Given the description of an element on the screen output the (x, y) to click on. 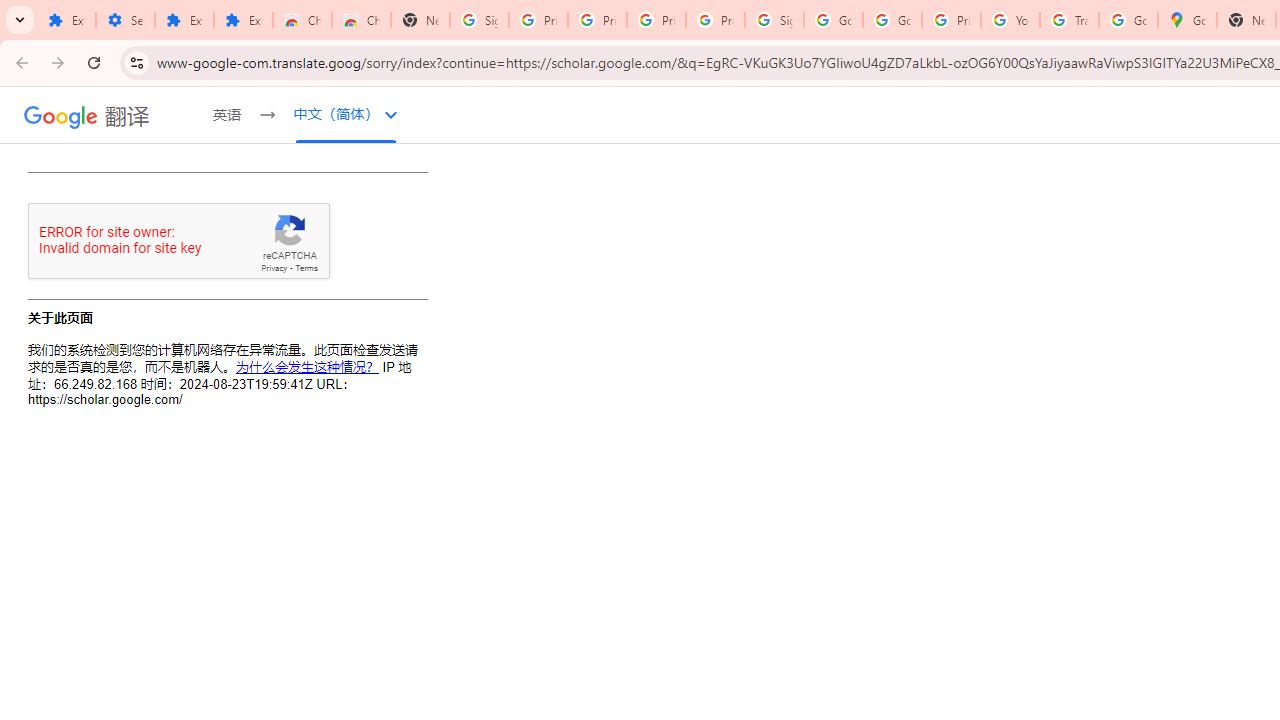
YouTube (1010, 20)
Google (61, 116)
Settings (125, 20)
Sign in - Google Accounts (774, 20)
Extensions (183, 20)
Extensions (66, 20)
Extensions (242, 20)
